Given the description of an element on the screen output the (x, y) to click on. 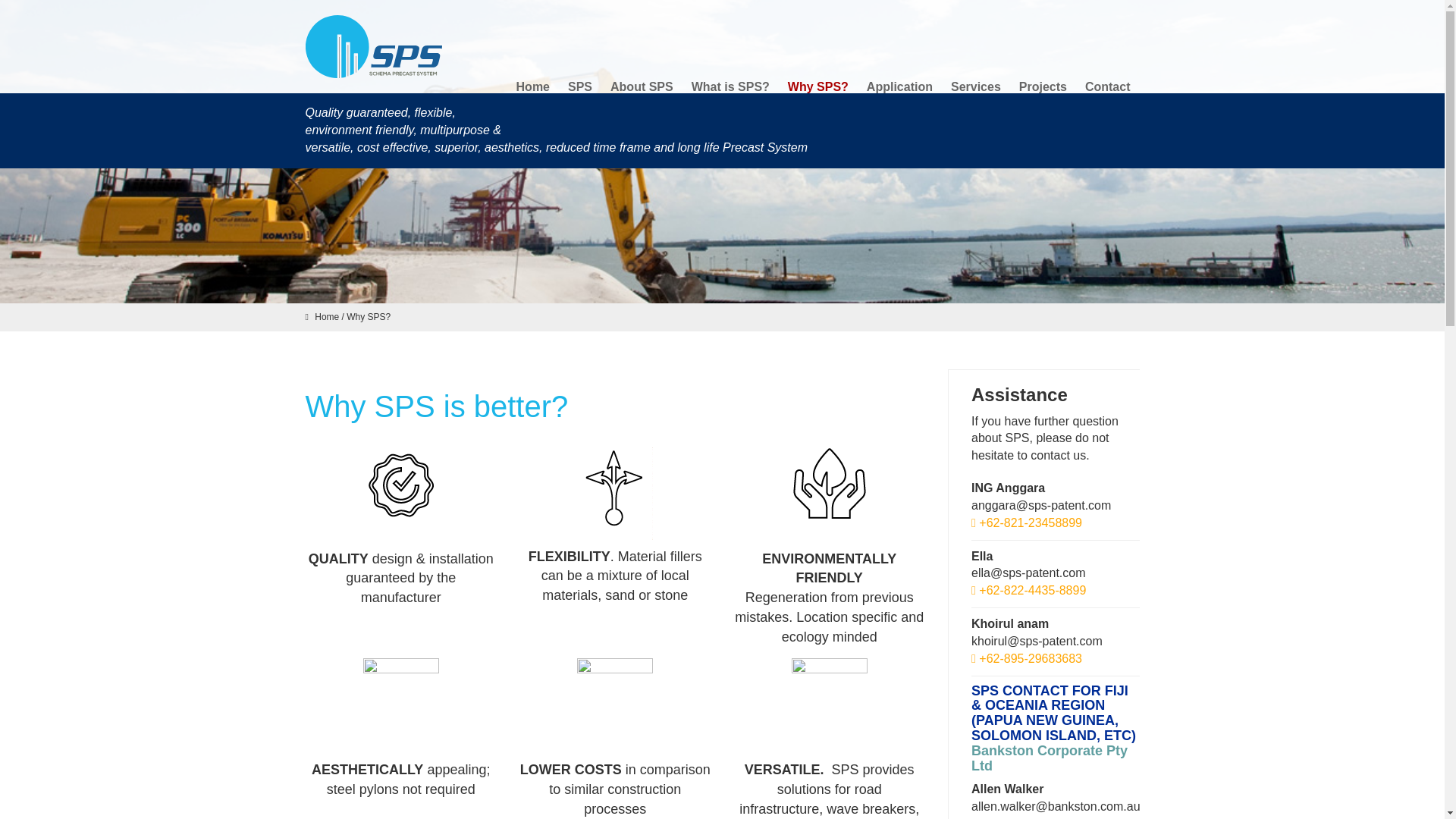
What is SPS? (730, 86)
Go to Schema Precast System. (326, 317)
Home (326, 317)
Application (899, 86)
Why SPS? (368, 317)
Go to Why SPS?. (368, 317)
